Given the description of an element on the screen output the (x, y) to click on. 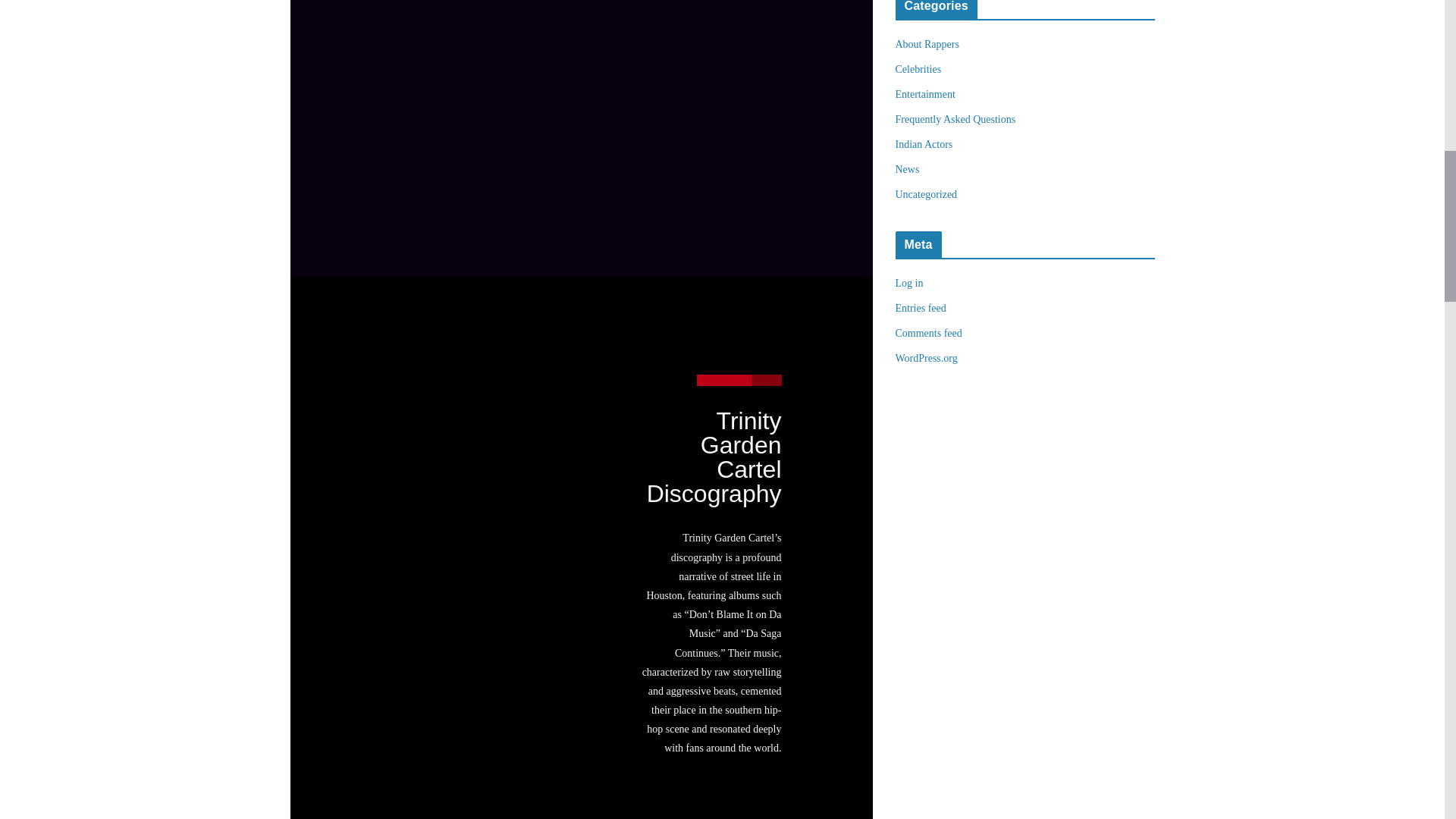
Celebrities (917, 69)
Entertainment (925, 93)
Frequently Asked Questions (954, 119)
About Rappers (926, 43)
